Given the description of an element on the screen output the (x, y) to click on. 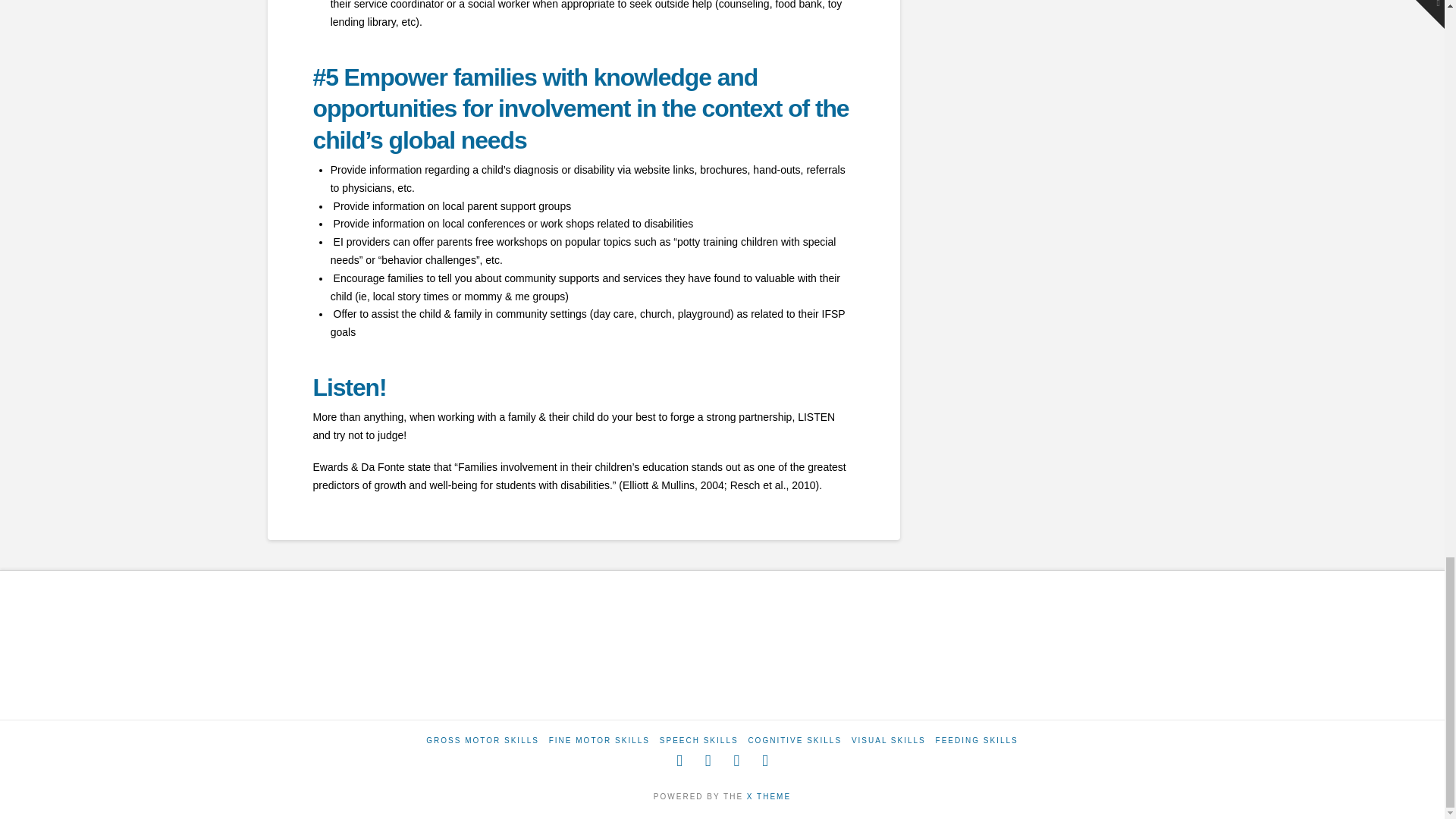
When should ga-ga turn into Mama? (698, 740)
Developing coordinated movements (598, 740)
From bottle to bananas (976, 740)
Developing the gift of sight (888, 740)
Learning through play (794, 740)
